Given the description of an element on the screen output the (x, y) to click on. 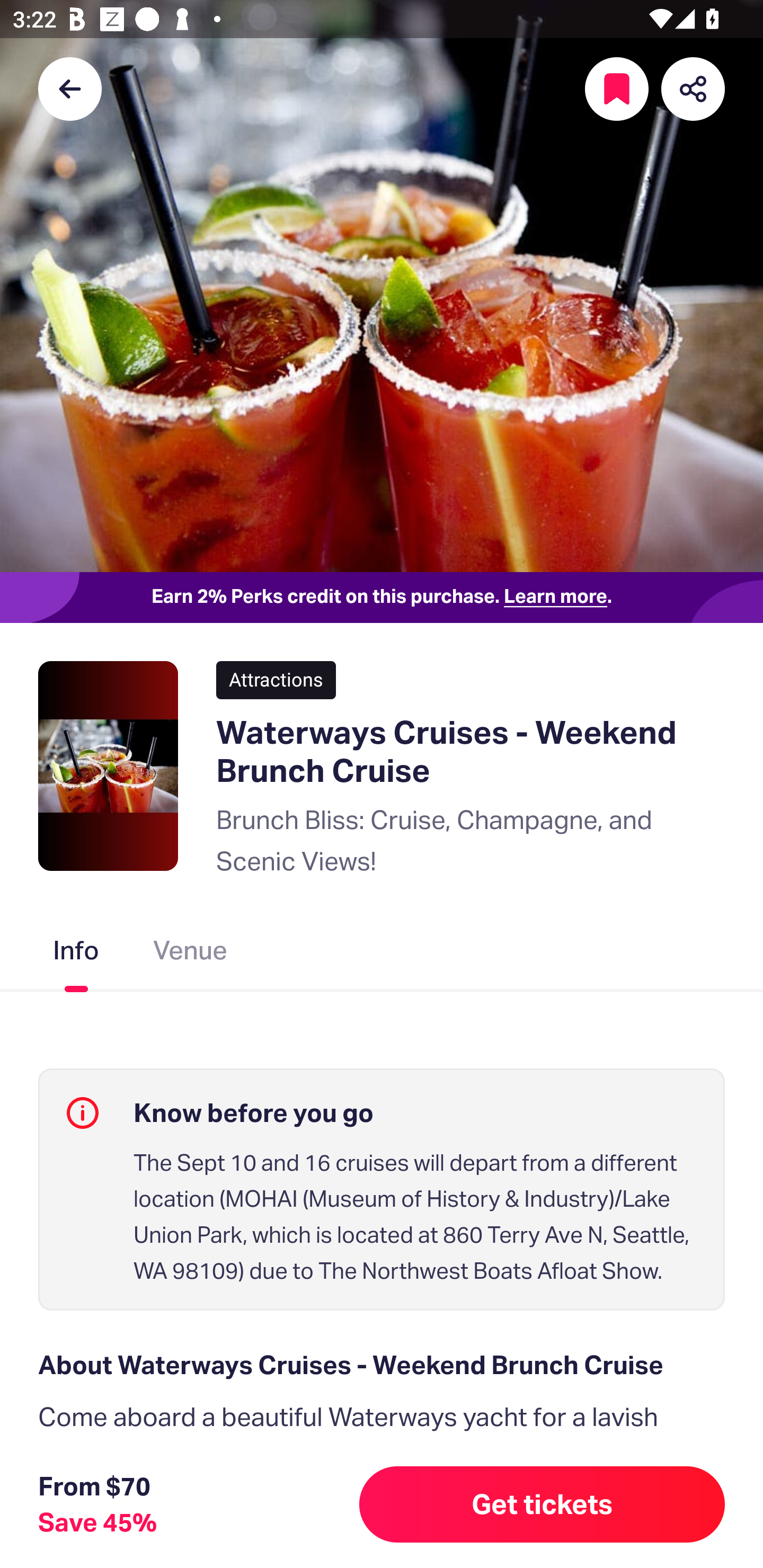
Earn 2% Perks credit on this purchase. Learn more. (381, 597)
Venue (190, 953)
About Waterways Cruises - Weekend Brunch Cruise (381, 1364)
Get tickets (541, 1504)
